Given the description of an element on the screen output the (x, y) to click on. 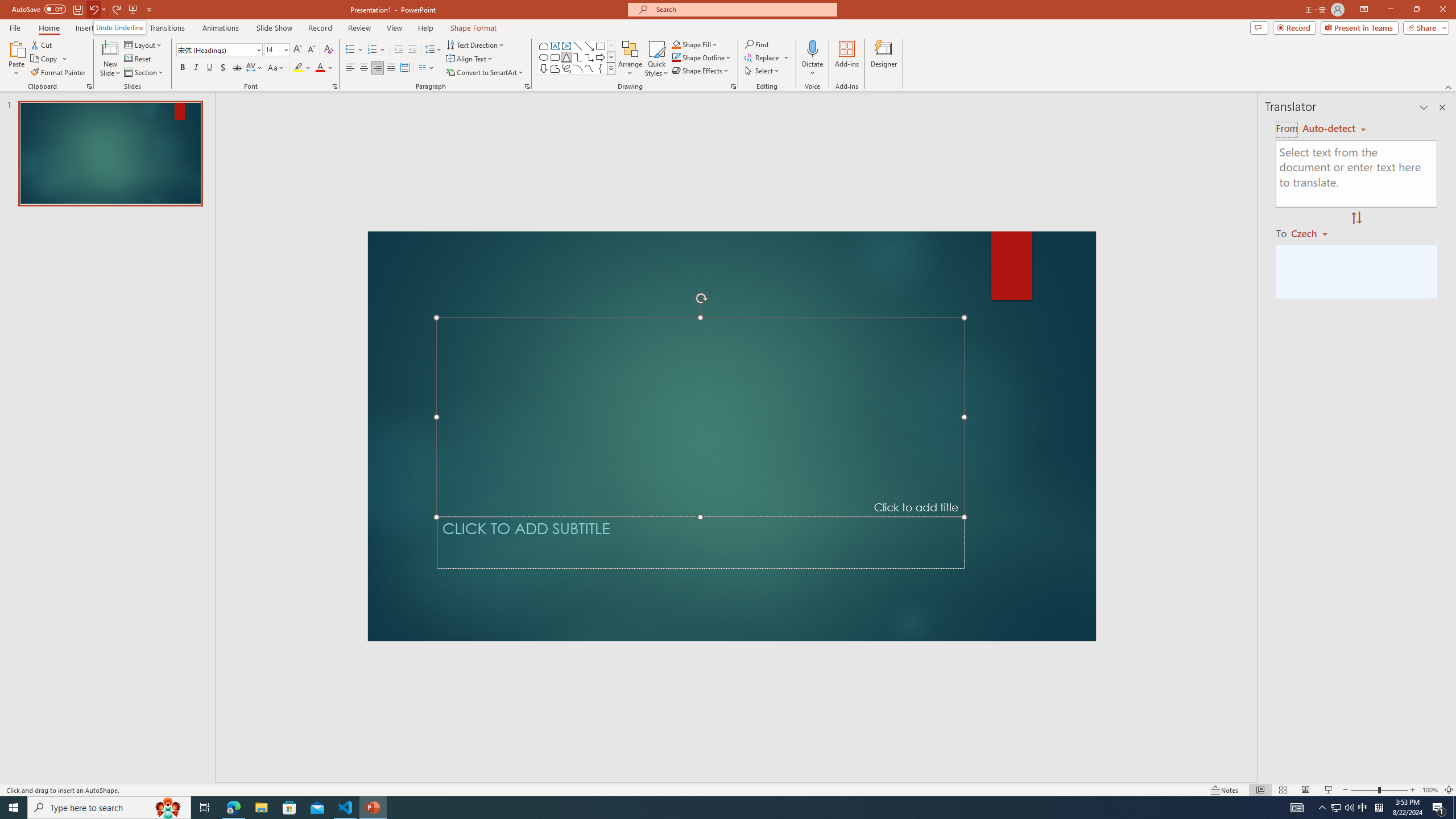
Auto-detect (1334, 128)
